Given the description of an element on the screen output the (x, y) to click on. 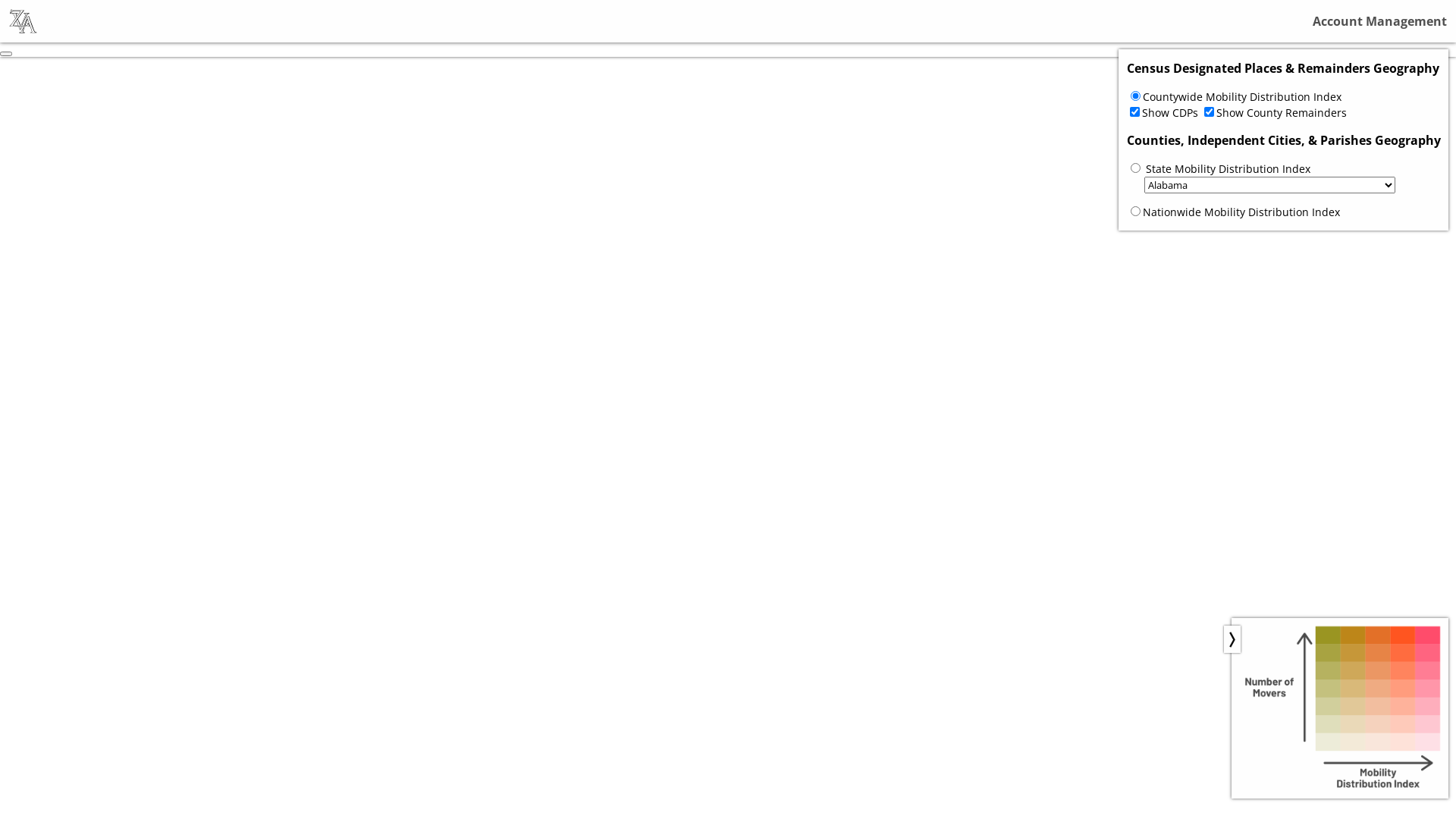
Account Management Element type: text (1379, 20)
